Given the description of an element on the screen output the (x, y) to click on. 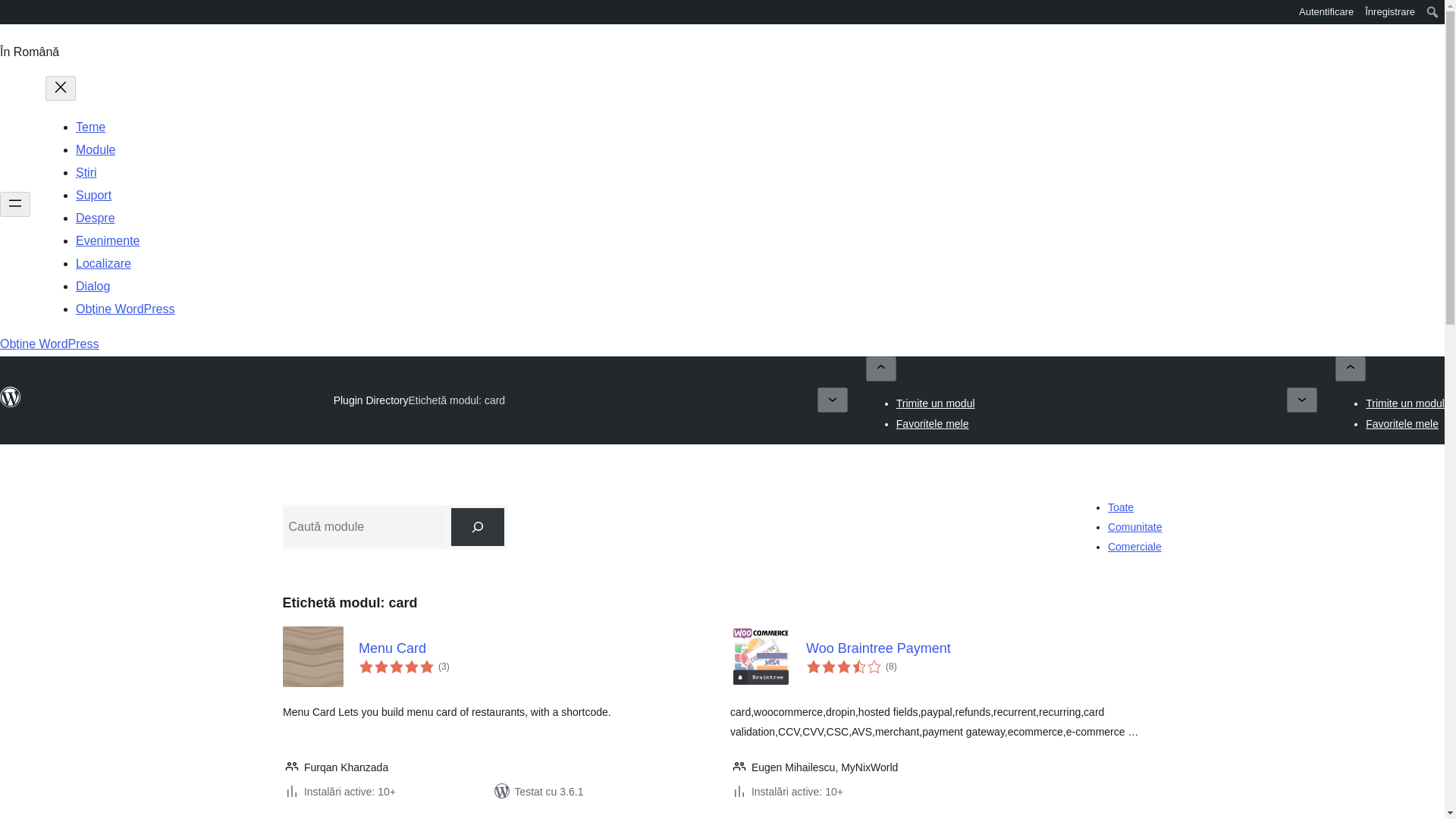
Menu Card (536, 648)
Woo Braintree Payment (983, 648)
WordPress.org (10, 404)
Module (95, 149)
Evenimente (107, 240)
Dialog (92, 286)
Plugin Directory (371, 399)
WordPress.org (10, 10)
Teme (89, 126)
Autentificare (1326, 12)
